Given the description of an element on the screen output the (x, y) to click on. 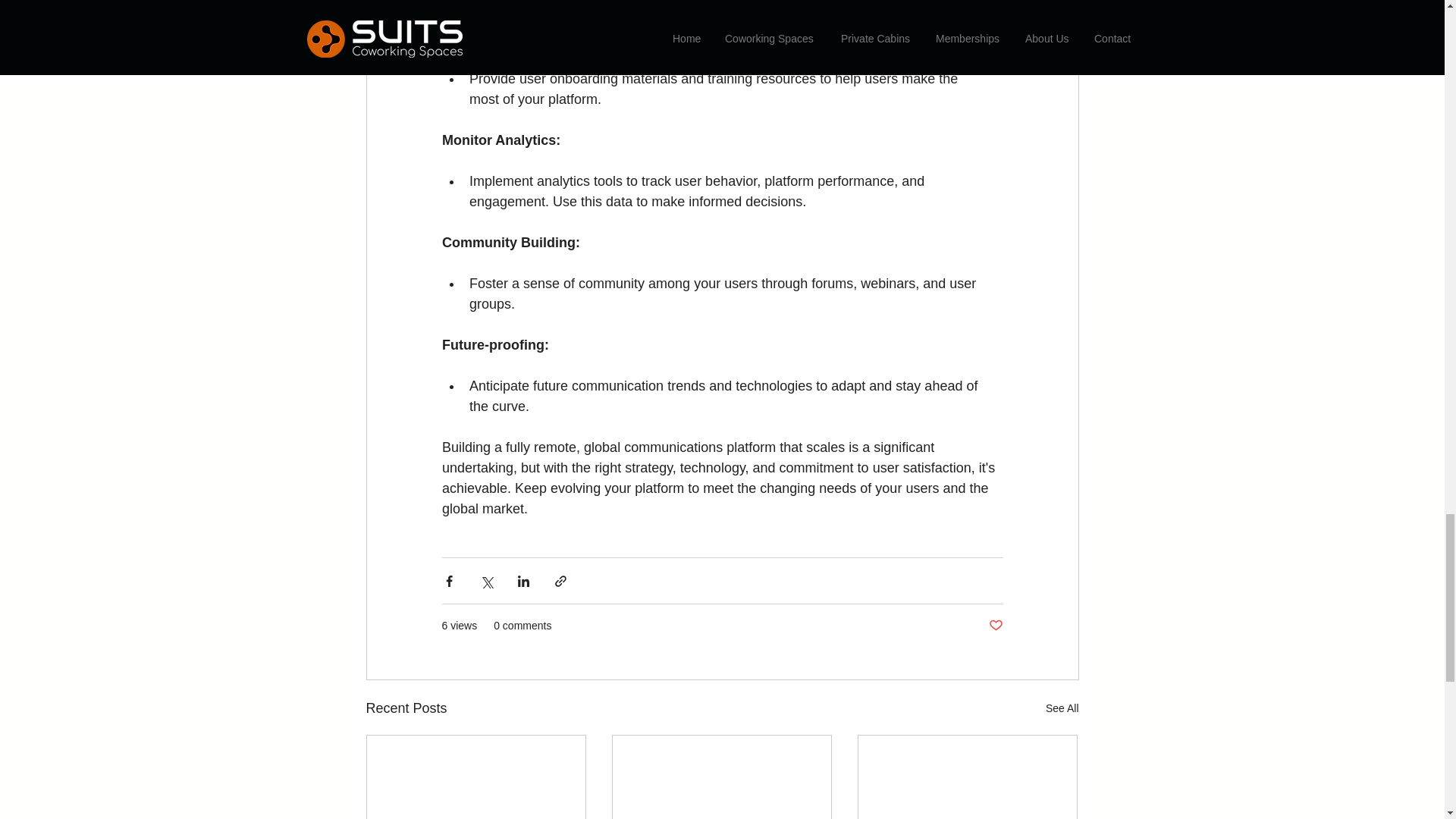
See All (1061, 708)
Post not marked as liked (995, 625)
